Given the description of an element on the screen output the (x, y) to click on. 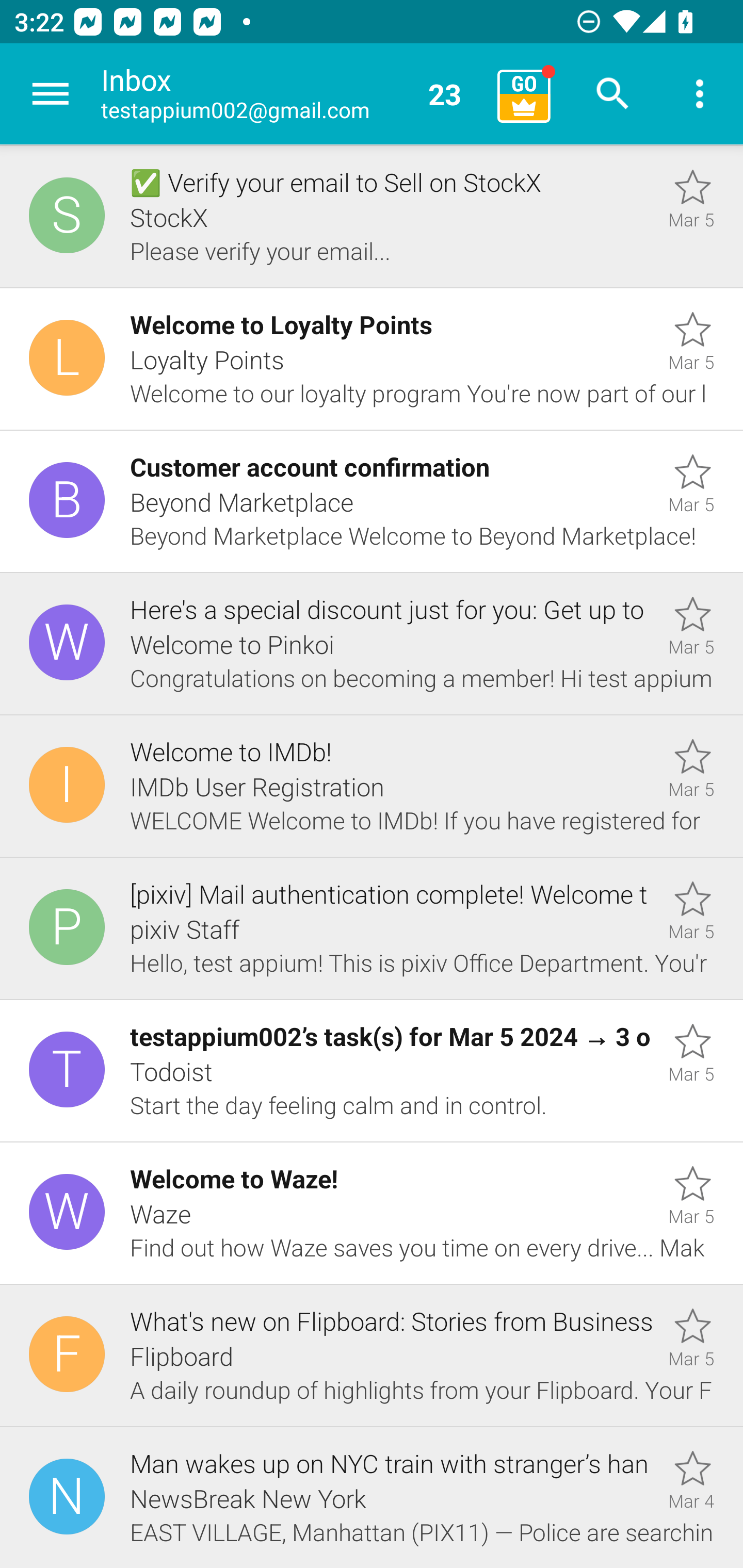
Navigate up (50, 93)
Inbox testappium002@gmail.com 23 (291, 93)
Search (612, 93)
More options (699, 93)
